Given the description of an element on the screen output the (x, y) to click on. 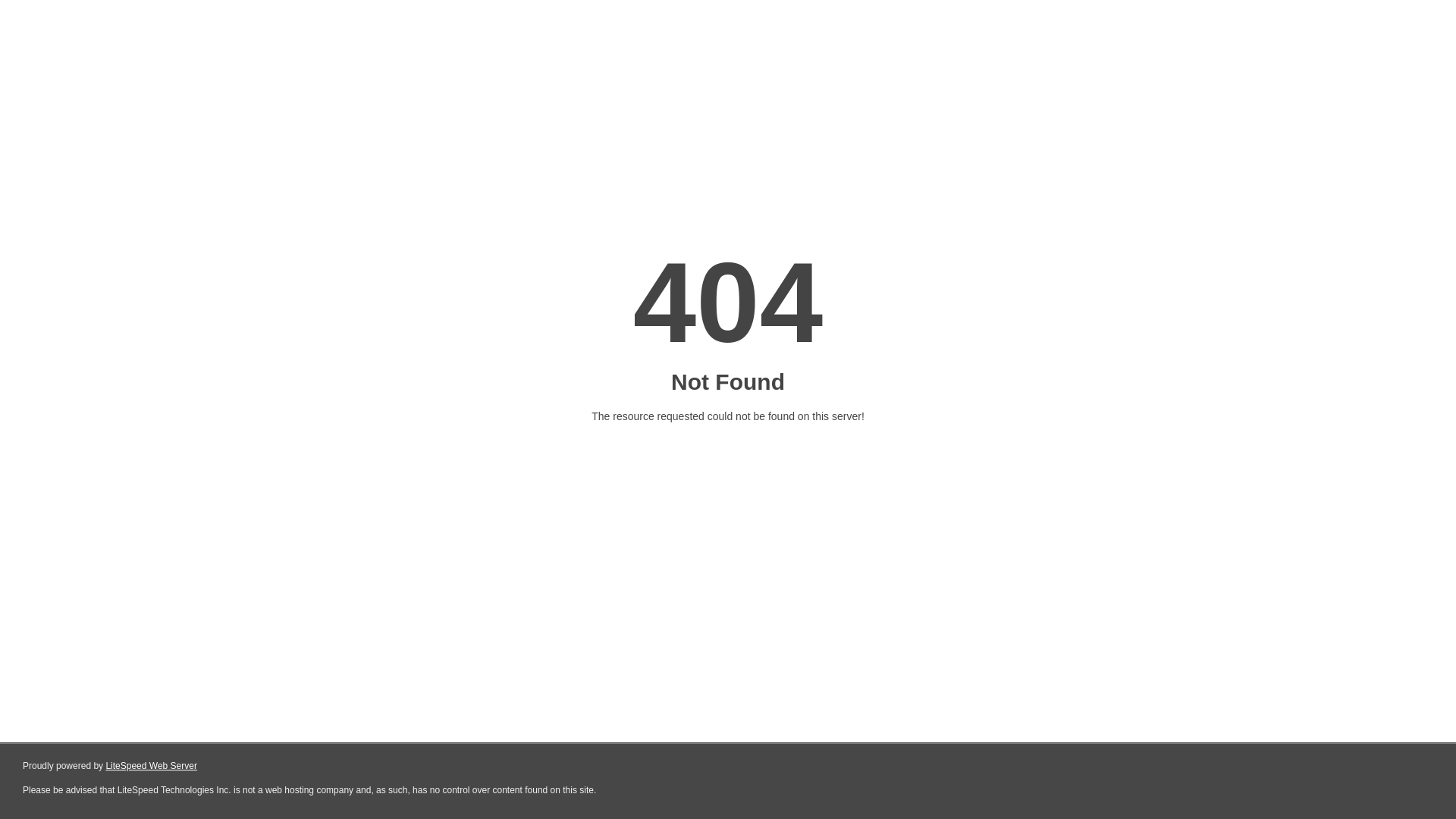
LiteSpeed Web Server Element type: text (151, 765)
